Given the description of an element on the screen output the (x, y) to click on. 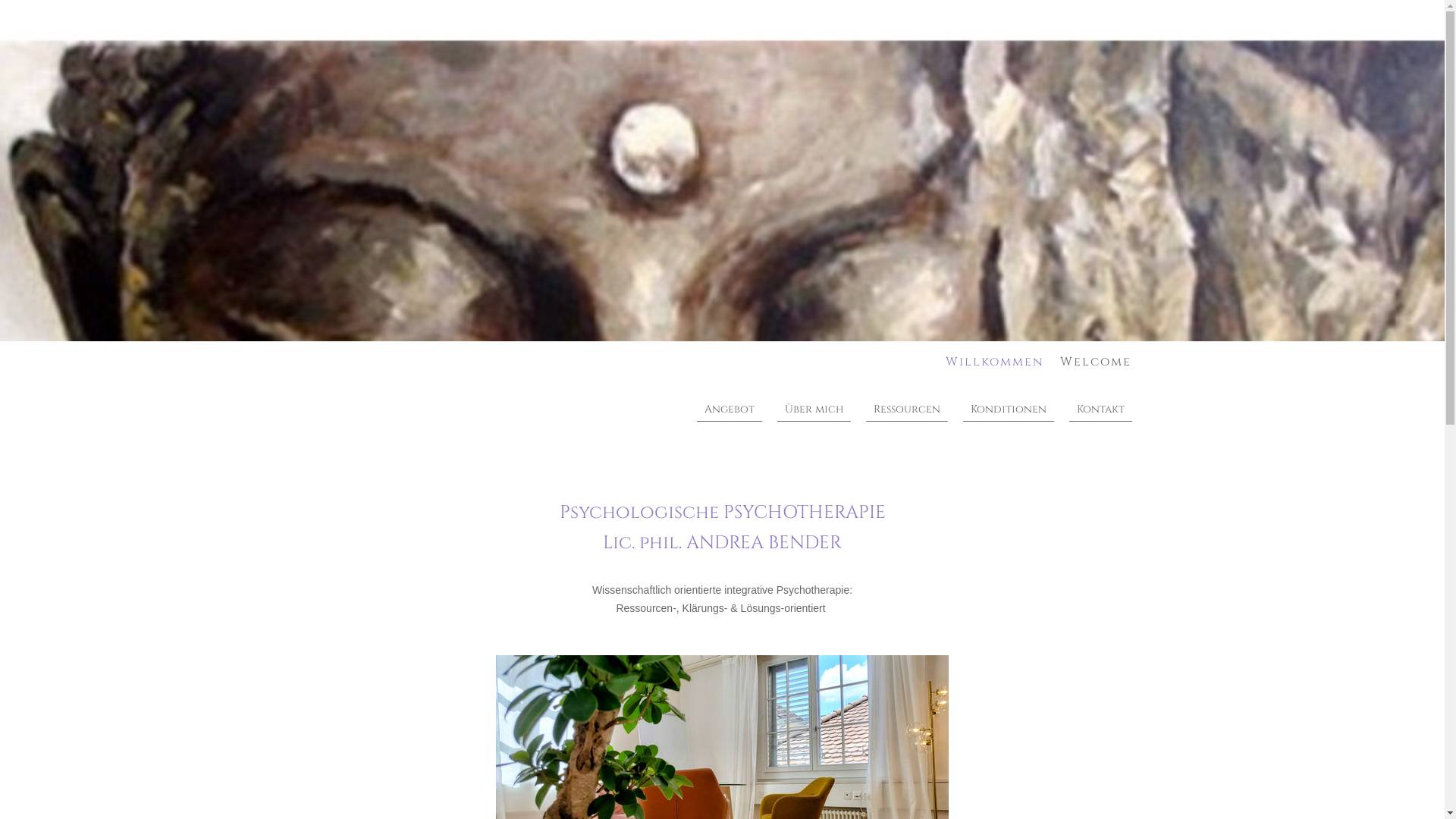
Willkommen Element type: text (994, 361)
Welcome Element type: text (1095, 361)
Konditionen Element type: text (1008, 409)
Kontakt Element type: text (1100, 409)
Ressourcen Element type: text (906, 409)
Angebot Element type: text (728, 409)
